Given the description of an element on the screen output the (x, y) to click on. 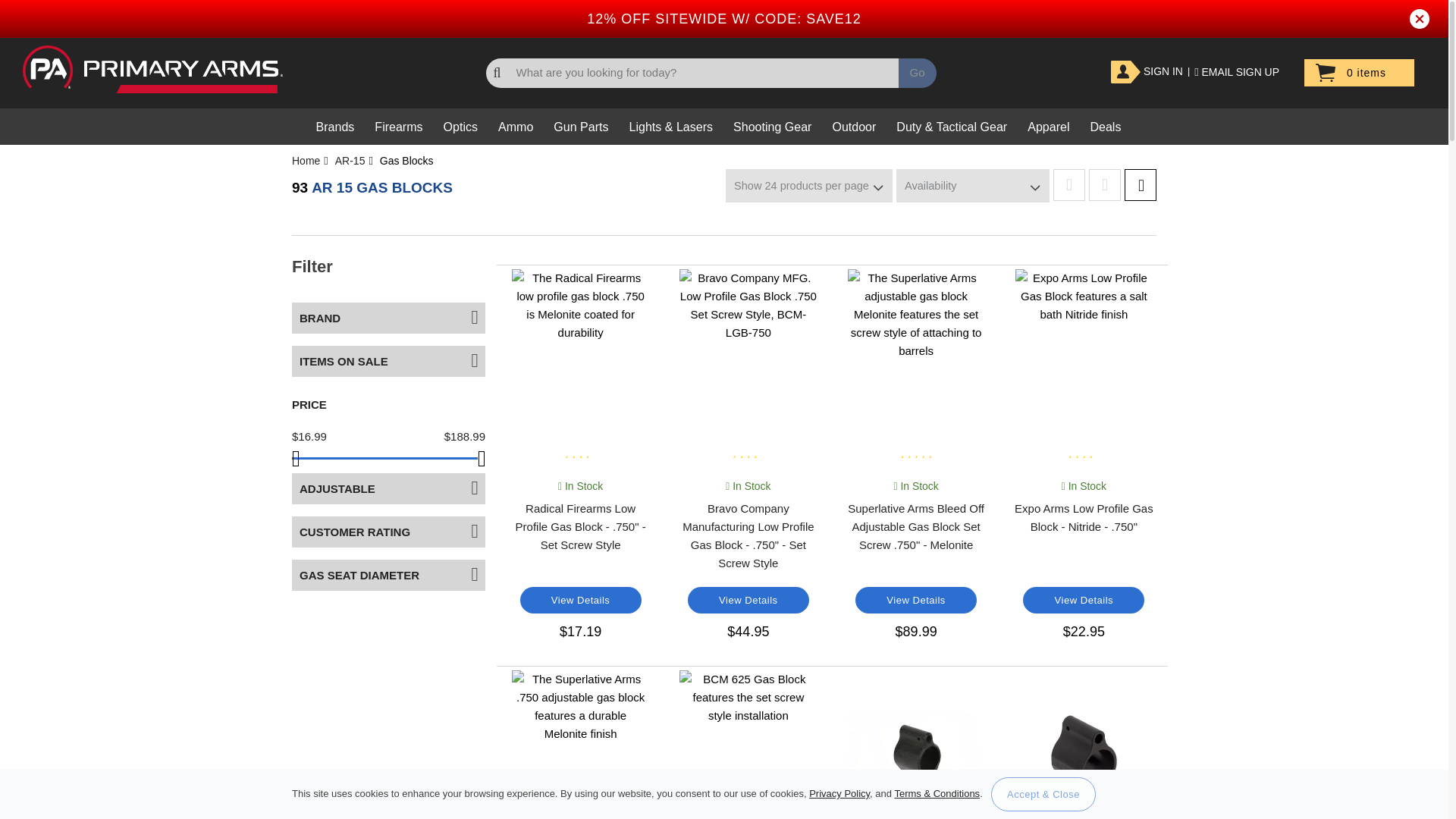
Brands (335, 126)
Cart (1358, 72)
0 items (1358, 72)
Unused iFrame 1 (37, 798)
Go (917, 72)
SIGN IN (1146, 71)
Brand (388, 317)
EMAIL SIGN UP (1236, 71)
Table (1105, 184)
Firearms (397, 126)
www.primaryarms.com (152, 69)
List (1068, 184)
Grid (1140, 184)
